Given the description of an element on the screen output the (x, y) to click on. 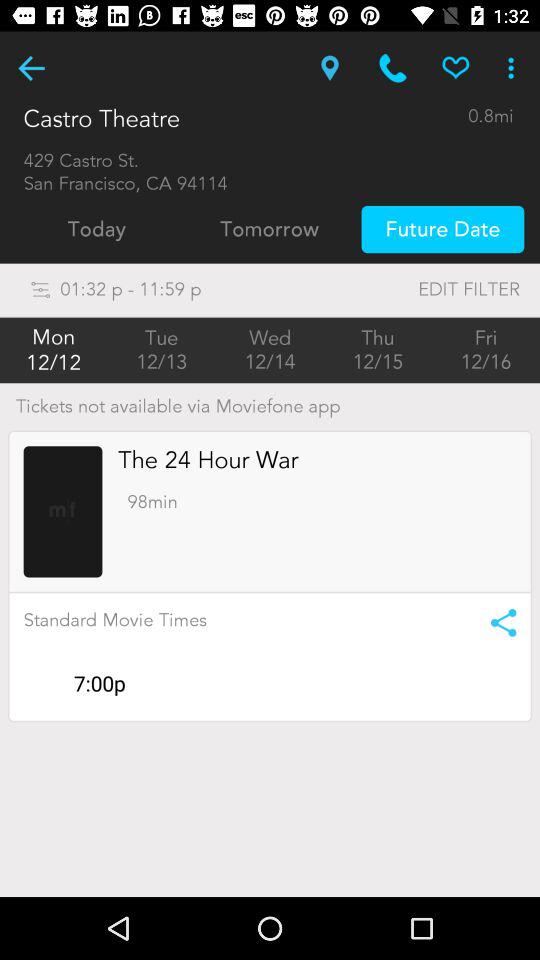
turn on the 24 hour item (208, 460)
